Given the description of an element on the screen output the (x, y) to click on. 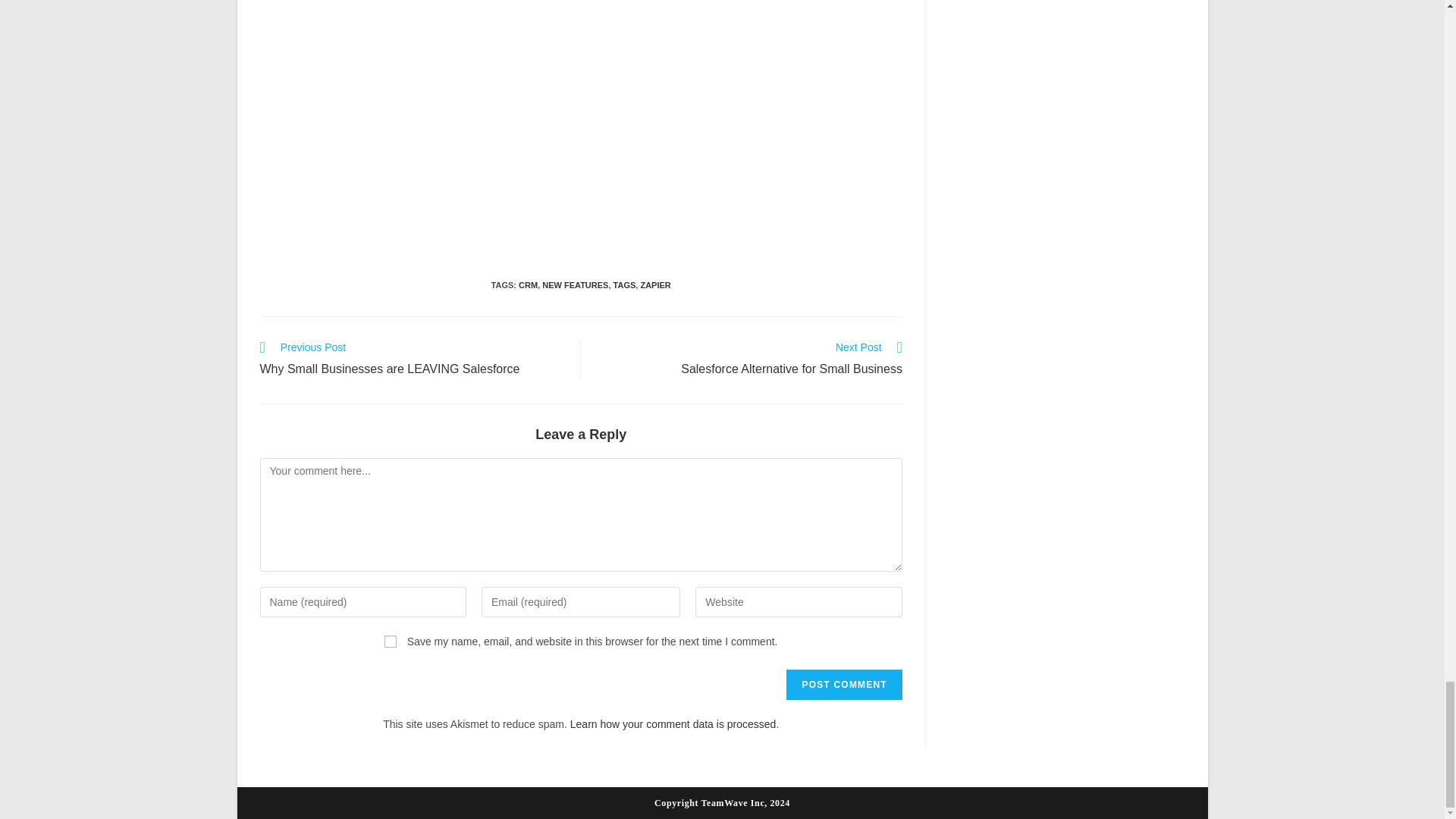
CRM (527, 284)
NEW FEATURES (574, 284)
Post Comment (843, 684)
TAGS (624, 284)
yes (390, 641)
